Given the description of an element on the screen output the (x, y) to click on. 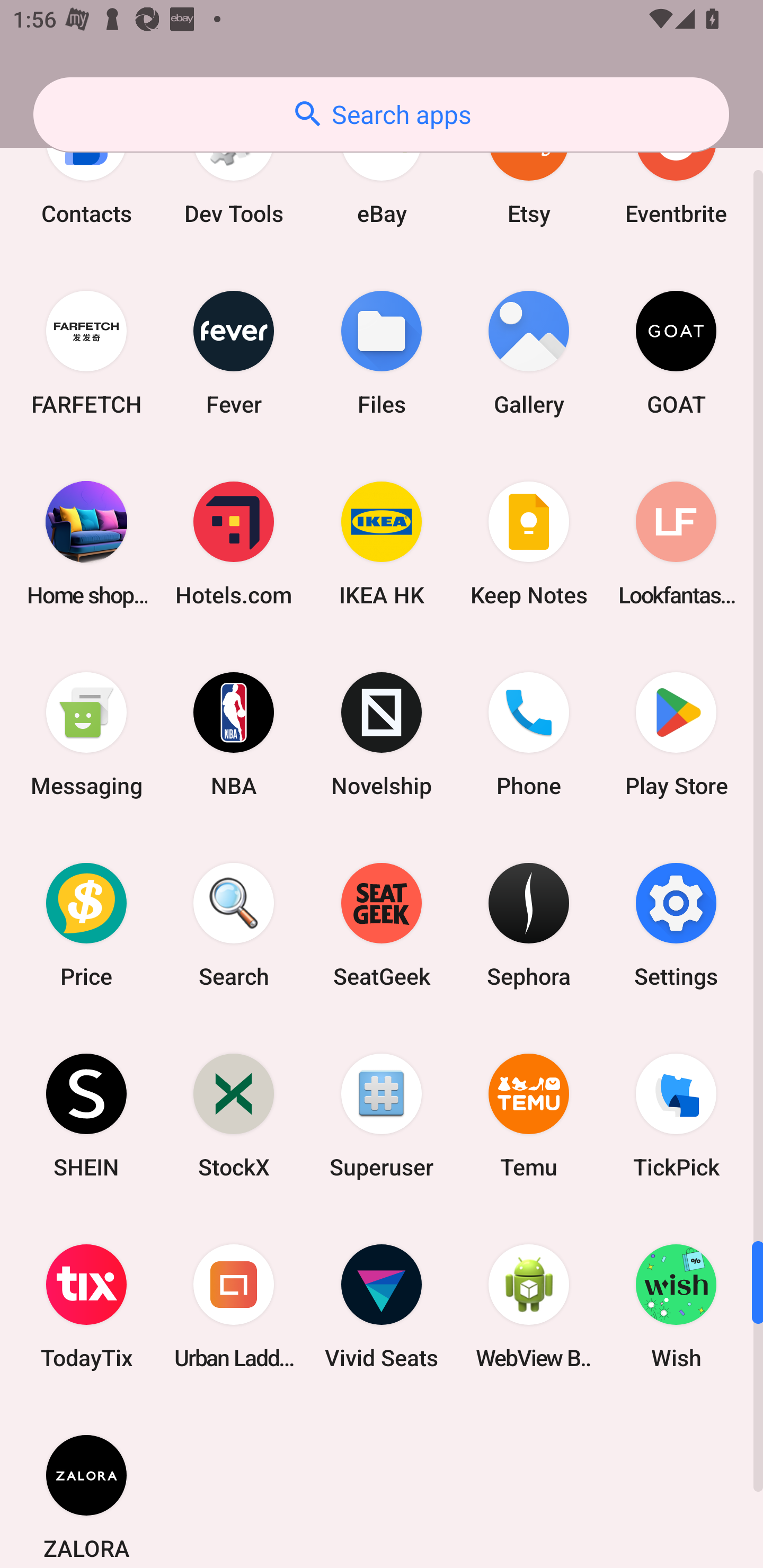
  Search apps (381, 114)
FARFETCH (86, 352)
Fever (233, 352)
Files (381, 352)
Gallery (528, 352)
GOAT (676, 352)
Home shopping (86, 543)
Hotels.com (233, 543)
IKEA HK (381, 543)
Keep Notes (528, 543)
Lookfantastic (676, 543)
Messaging (86, 733)
NBA (233, 733)
Novelship (381, 733)
Phone (528, 733)
Play Store (676, 733)
Price (86, 924)
Search (233, 924)
SeatGeek (381, 924)
Sephora (528, 924)
Settings (676, 924)
SHEIN (86, 1115)
StockX (233, 1115)
Superuser (381, 1115)
Temu (528, 1115)
TickPick (676, 1115)
TodayTix (86, 1305)
Urban Ladder (233, 1305)
Vivid Seats (381, 1305)
WebView Browser Tester (528, 1305)
Wish (676, 1305)
ZALORA (86, 1484)
